Given the description of an element on the screen output the (x, y) to click on. 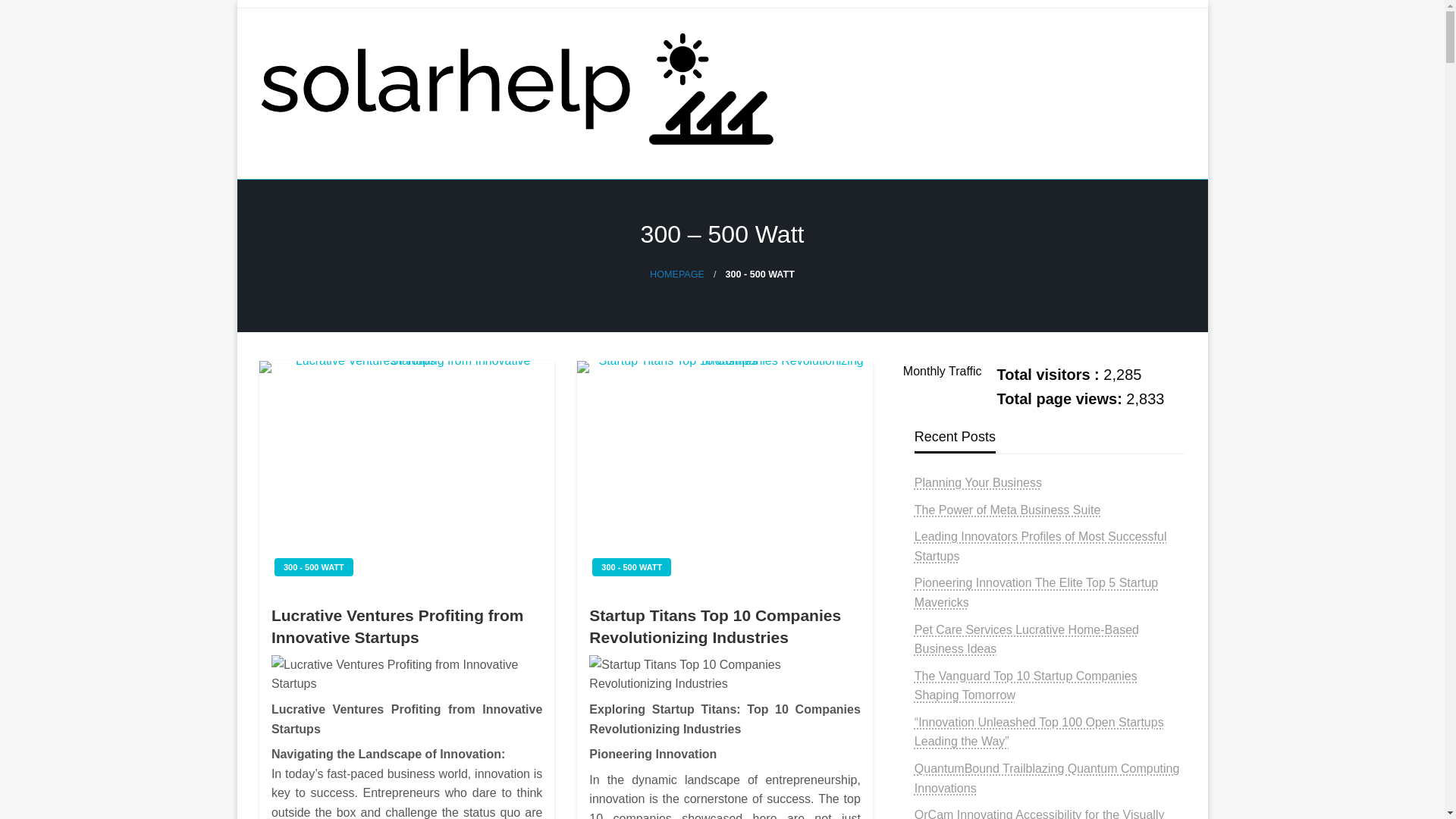
Lucrative Ventures Profiting from Innovative Startups (405, 674)
300 - 500 WATT (631, 566)
Startup Titans Top 10 Companies Revolutionizing Industries (724, 674)
HOMEPAGE (676, 274)
Startup Titans Top 10 Companies Revolutionizing Industries (724, 474)
Lucrative Ventures Profiting from Innovative Startups (405, 626)
Solarhelp (320, 198)
Startup Titans Top 10 Companies Revolutionizing Industries (724, 626)
Lucrative Ventures Profiting from Innovative Startups (406, 474)
